Given the description of an element on the screen output the (x, y) to click on. 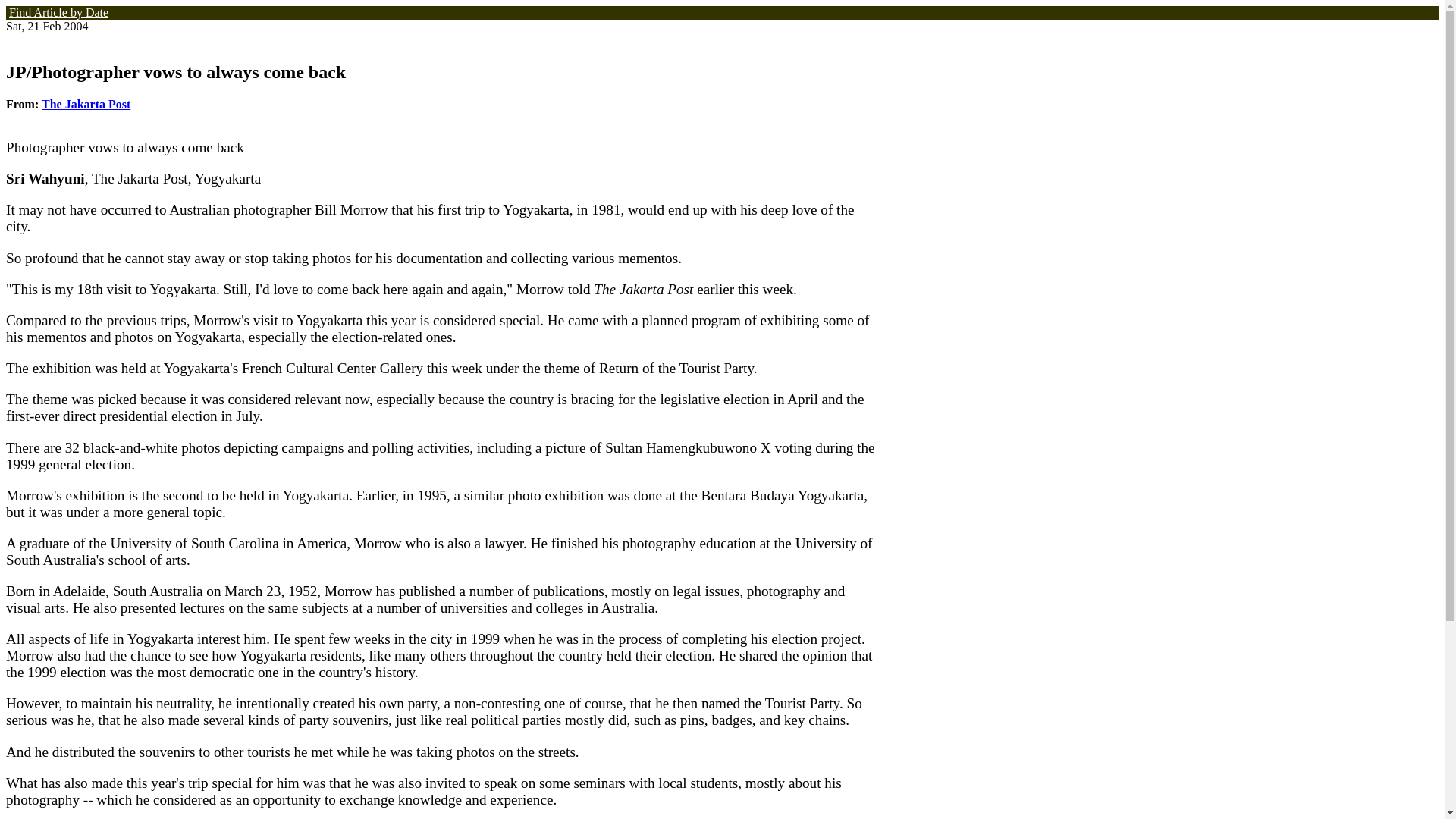
The Jakarta Post (86, 103)
Find Article by Date (57, 9)
